Given the description of an element on the screen output the (x, y) to click on. 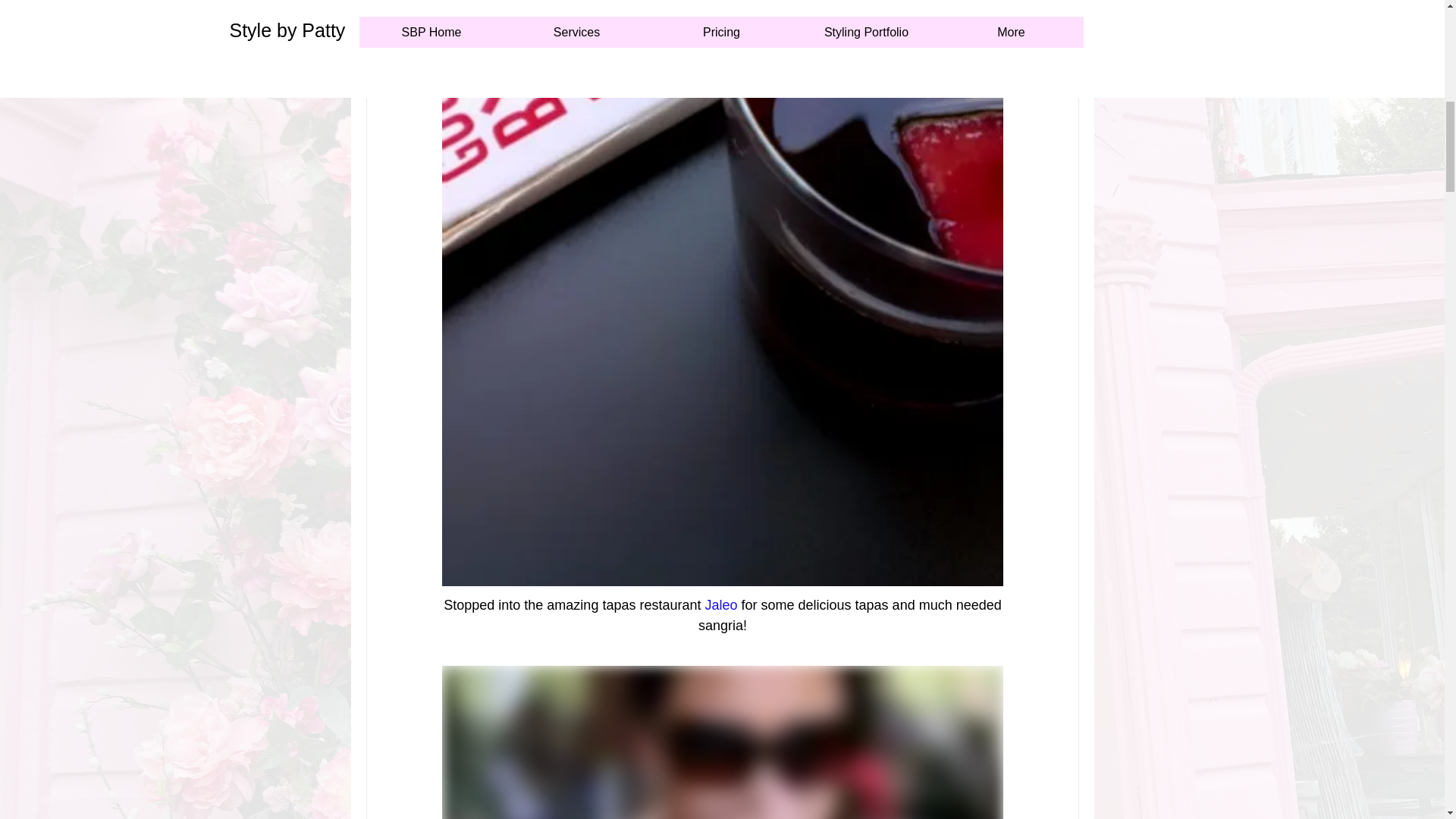
Jaleo (720, 604)
